Given the description of an element on the screen output the (x, y) to click on. 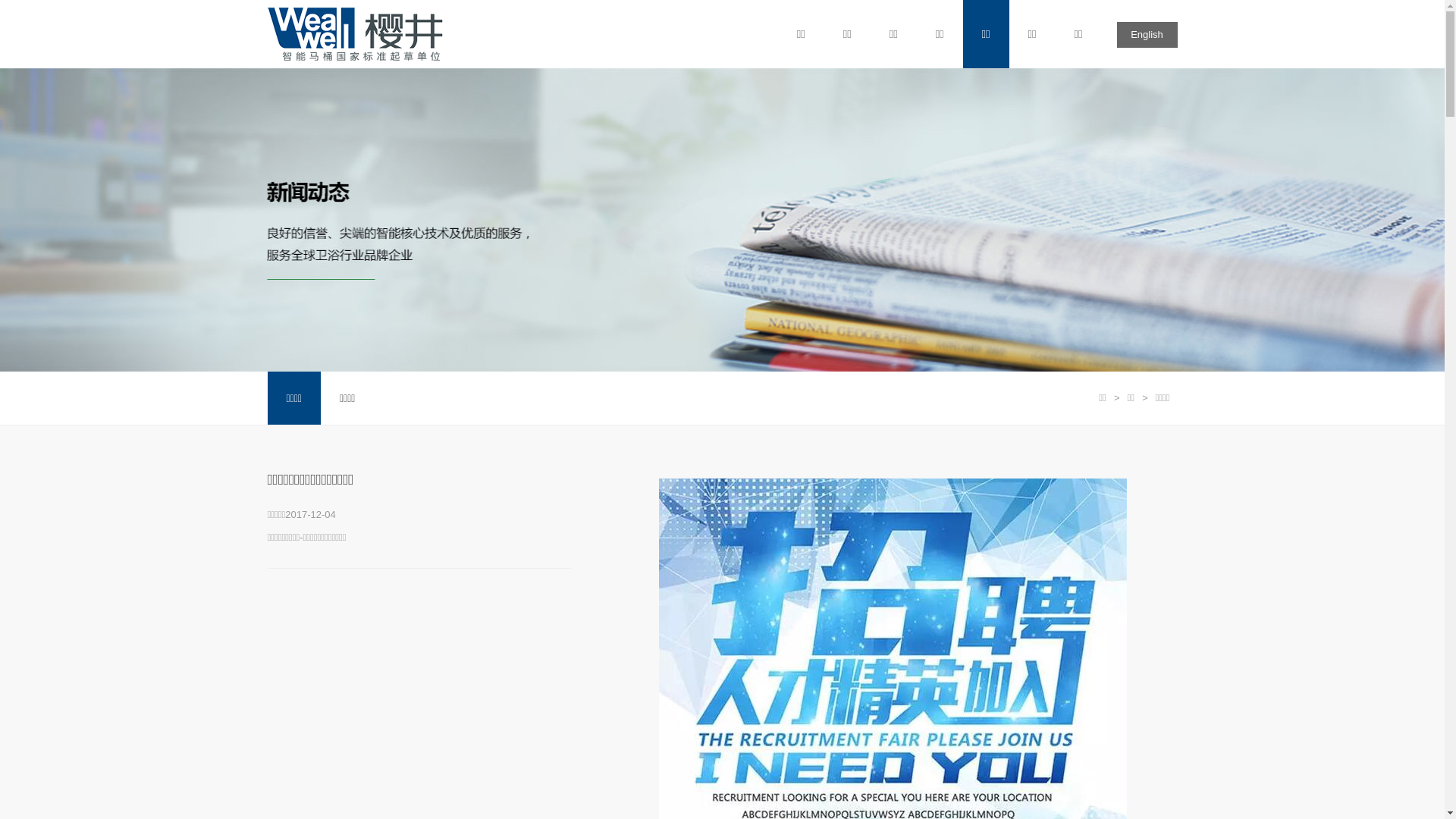
English Element type: text (1146, 34)
